Given the description of an element on the screen output the (x, y) to click on. 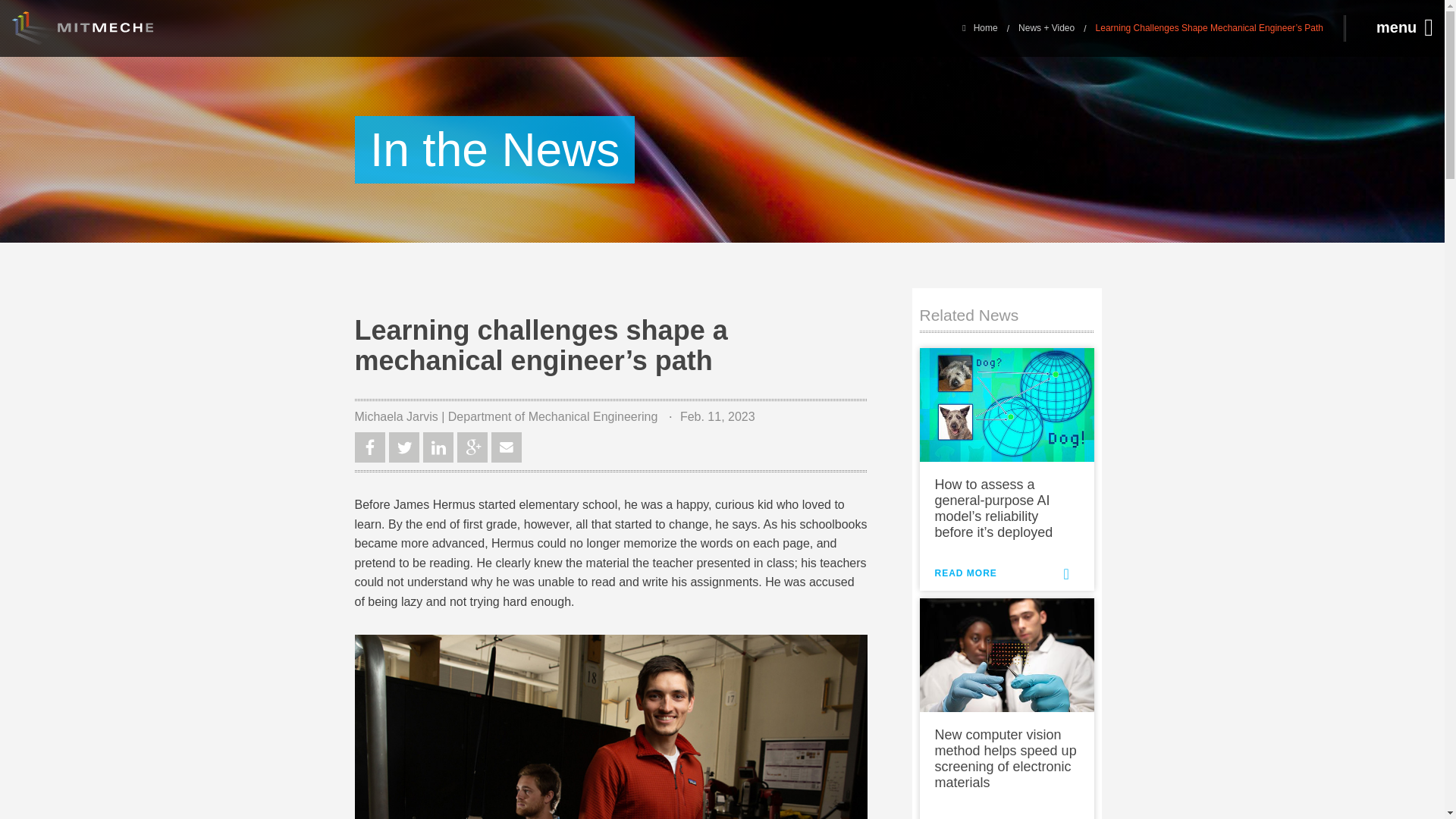
James in the lab (611, 726)
